Given the description of an element on the screen output the (x, y) to click on. 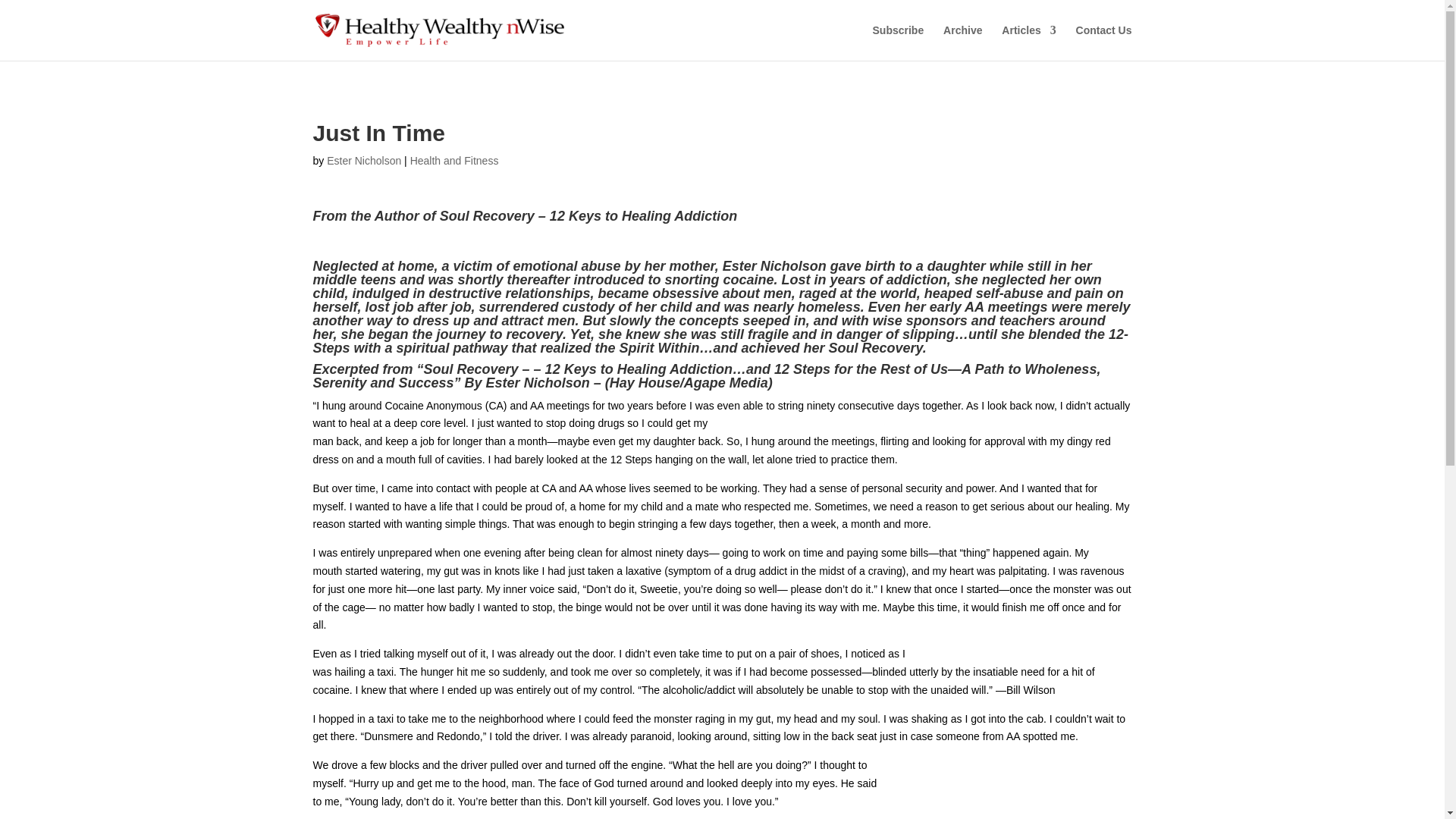
Archive (962, 42)
Subscribe (897, 42)
Health and Fitness (454, 160)
Contact Us (1103, 42)
Ester Nicholson (363, 160)
Posts by Ester Nicholson (363, 160)
Articles (1028, 42)
